Given the description of an element on the screen output the (x, y) to click on. 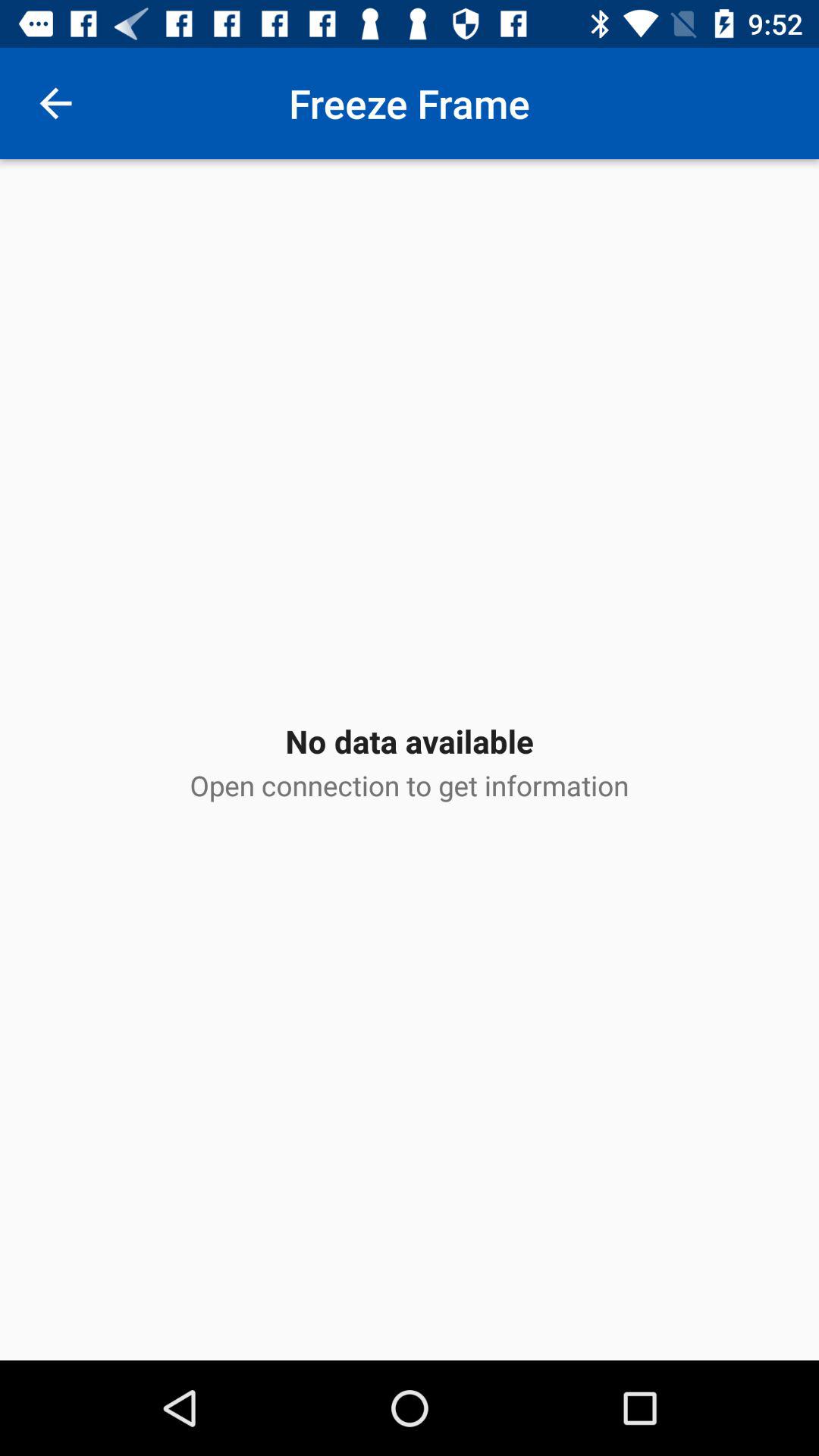
click the icon next to freeze frame icon (55, 103)
